Given the description of an element on the screen output the (x, y) to click on. 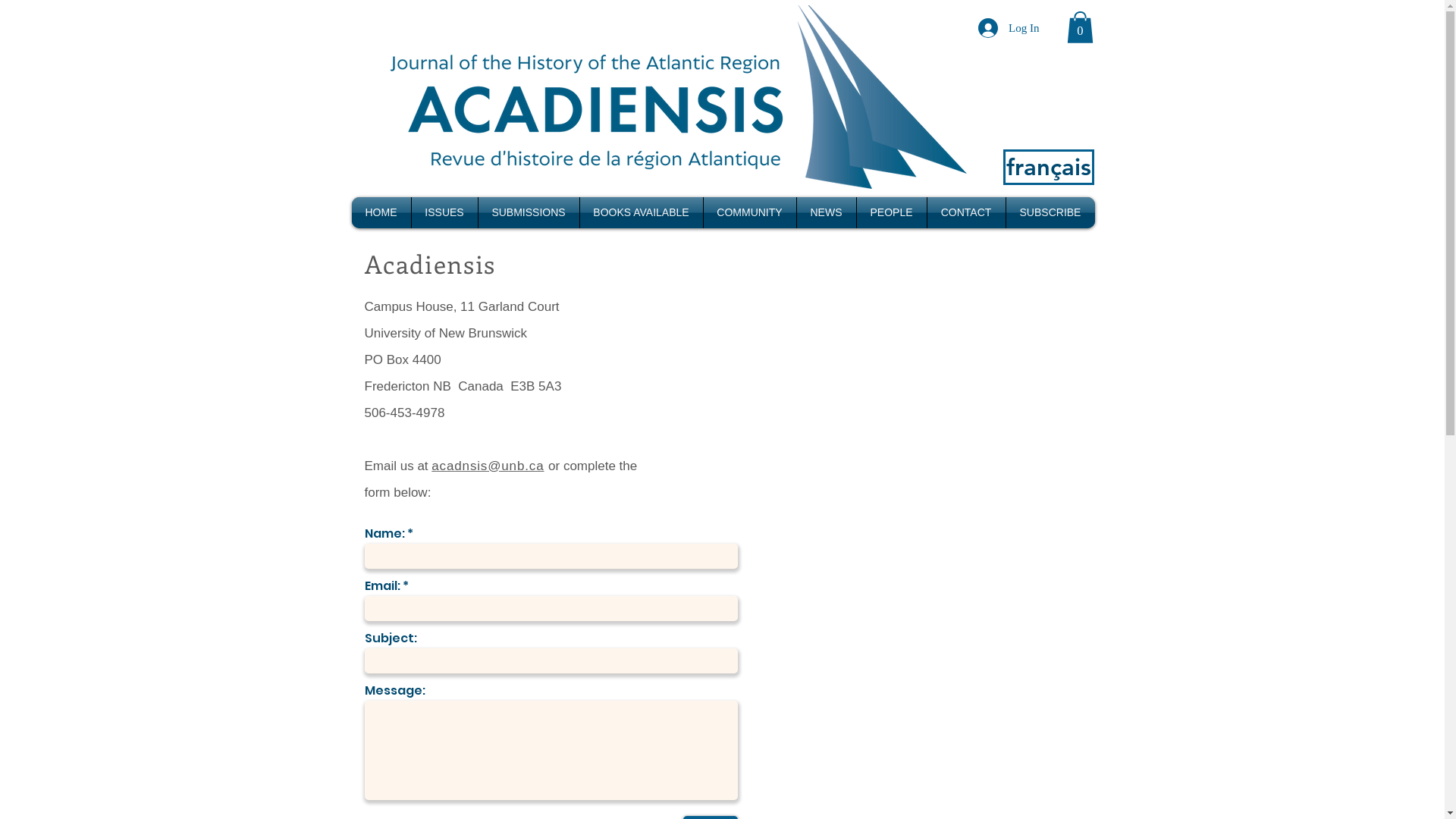
HOME Element type: text (381, 212)
SUBMISSIONS Element type: text (527, 212)
Log In Element type: text (1008, 27)
SUBSCRIBE Element type: text (1049, 212)
acadnsis@unb.ca  Element type: text (489, 465)
0 Element type: text (1079, 27)
NEWS Element type: text (825, 212)
CONTACT Element type: text (965, 212)
